Given the description of an element on the screen output the (x, y) to click on. 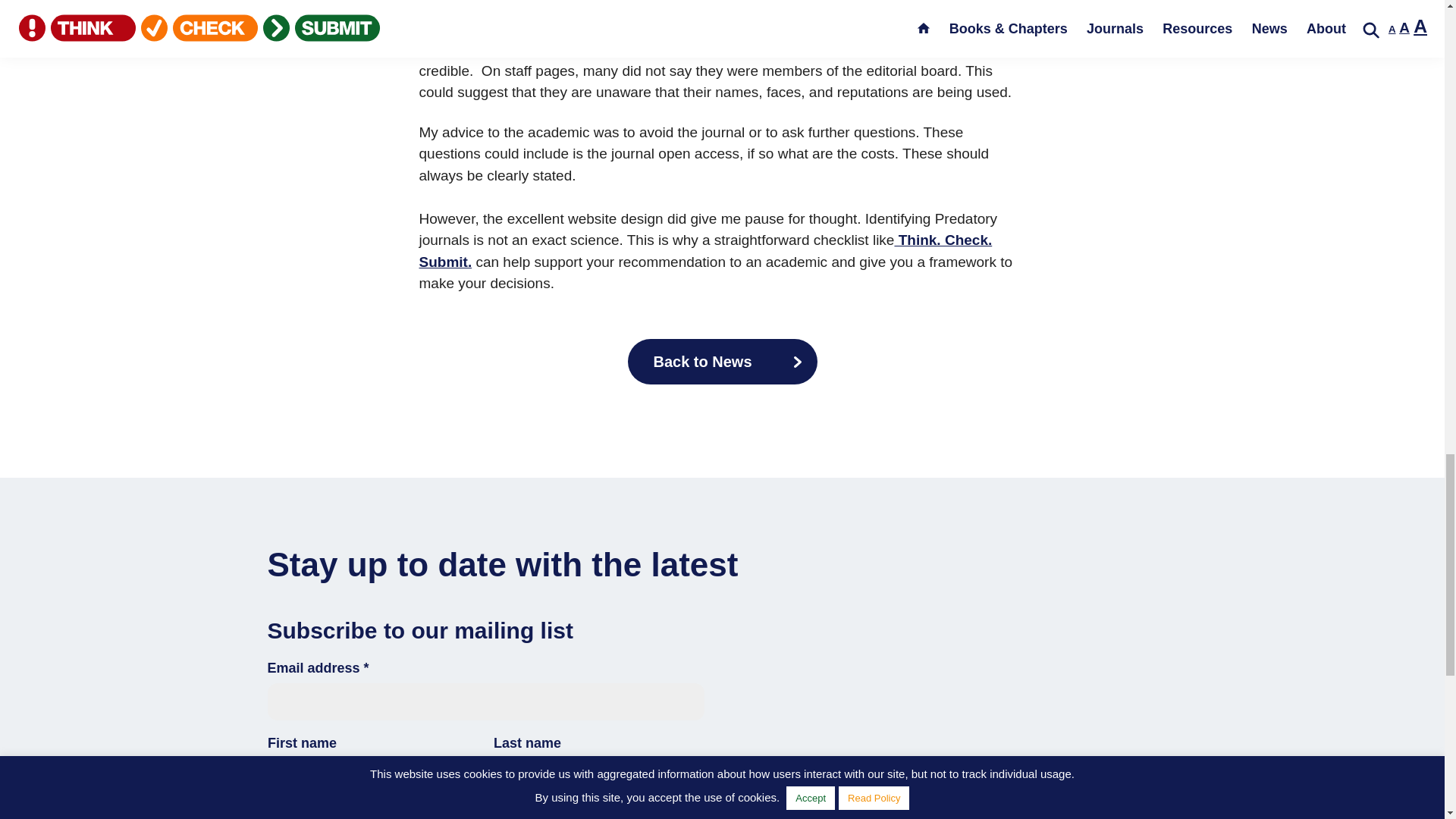
First name (371, 777)
Back to News (721, 361)
Email address (484, 702)
Think. Check. Submit. (705, 250)
Last name (598, 777)
